Given the description of an element on the screen output the (x, y) to click on. 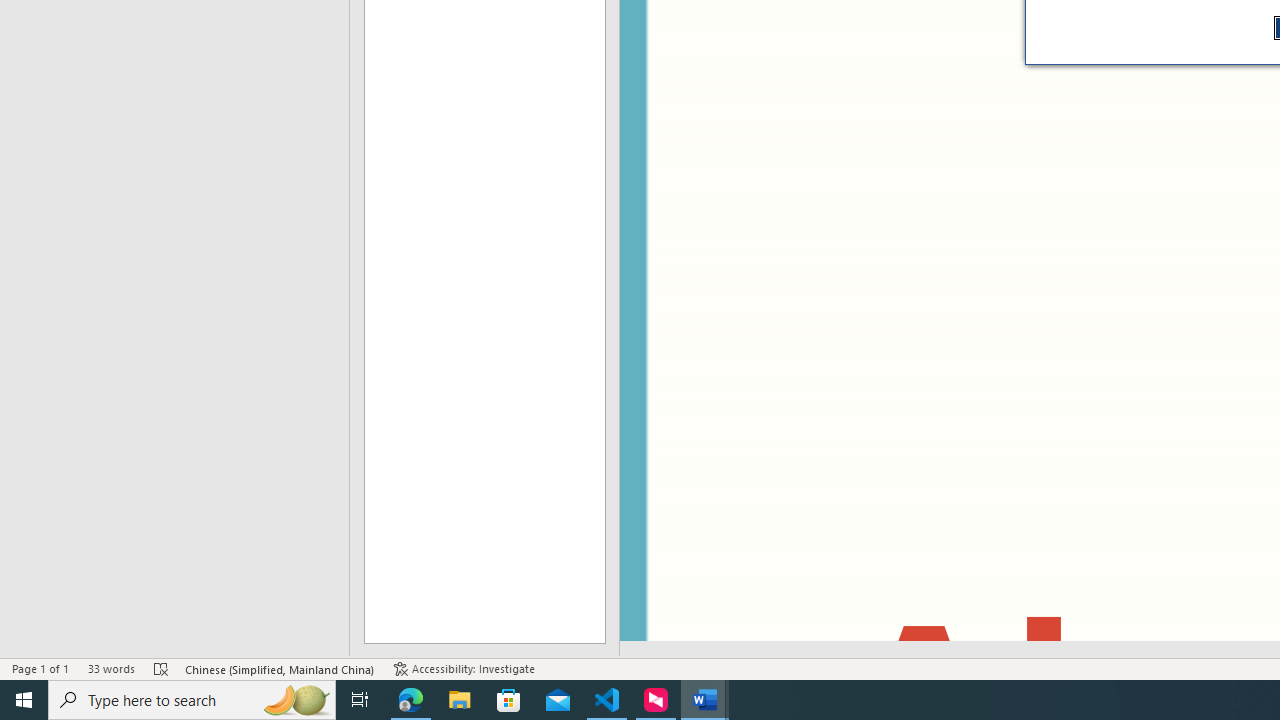
File Explorer (460, 699)
Word - 2 running windows (704, 699)
Accessibility Checker Accessibility: Investigate (464, 668)
Microsoft Store (509, 699)
Search highlights icon opens search home window (295, 699)
Page Number Page 1 of 1 (39, 668)
Microsoft Edge - 1 running window (411, 699)
Start (24, 699)
Spelling and Grammar Check Errors (161, 668)
Language Chinese (Simplified, Mainland China) (279, 668)
Type here to search (191, 699)
Task View (359, 699)
Visual Studio Code - 1 running window (607, 699)
